Given the description of an element on the screen output the (x, y) to click on. 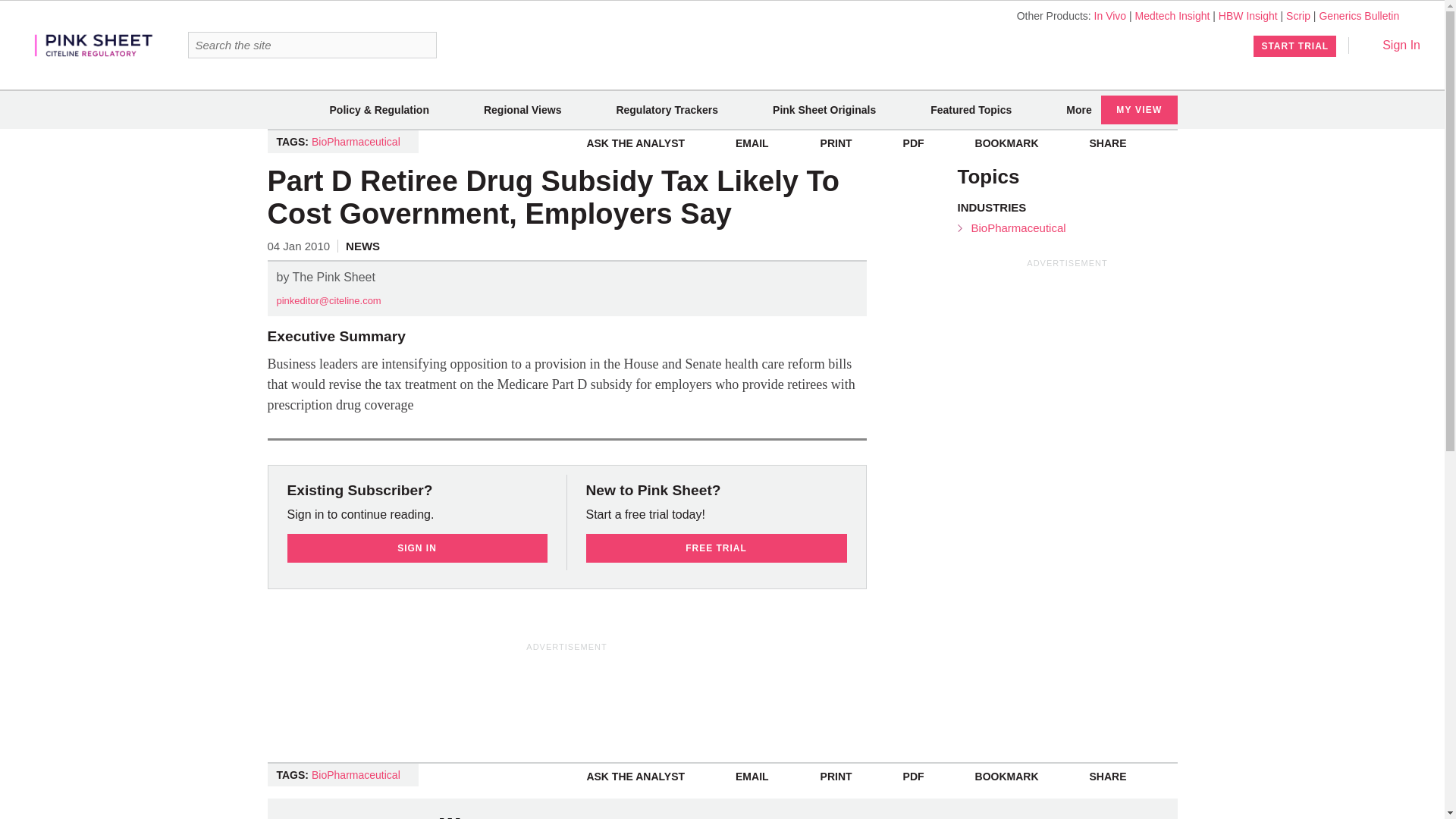
Medtech Insight (1172, 15)
Generics Bulletin (1359, 15)
Sign In (1391, 44)
HBW Insight (1248, 15)
START TRIAL (1294, 46)
In Vivo (1110, 15)
Scrip (1297, 15)
3rd party ad content (567, 688)
